Given the description of an element on the screen output the (x, y) to click on. 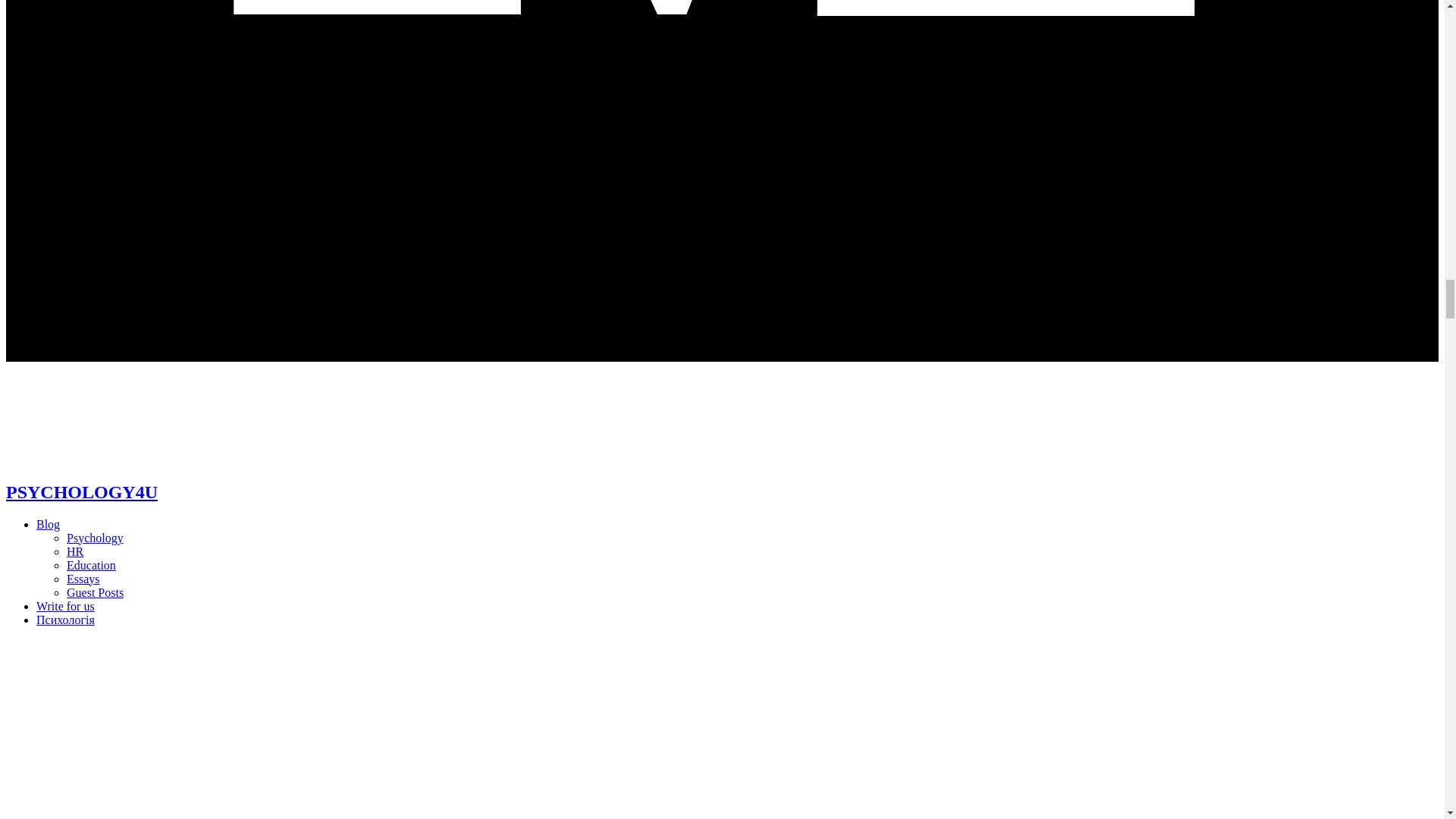
Psychology (94, 536)
HR (74, 550)
Education (91, 563)
Write for us (65, 604)
Guest Posts (94, 591)
Blog (47, 522)
PSYCHOLOGY4U (81, 492)
Essays (83, 577)
